Given the description of an element on the screen output the (x, y) to click on. 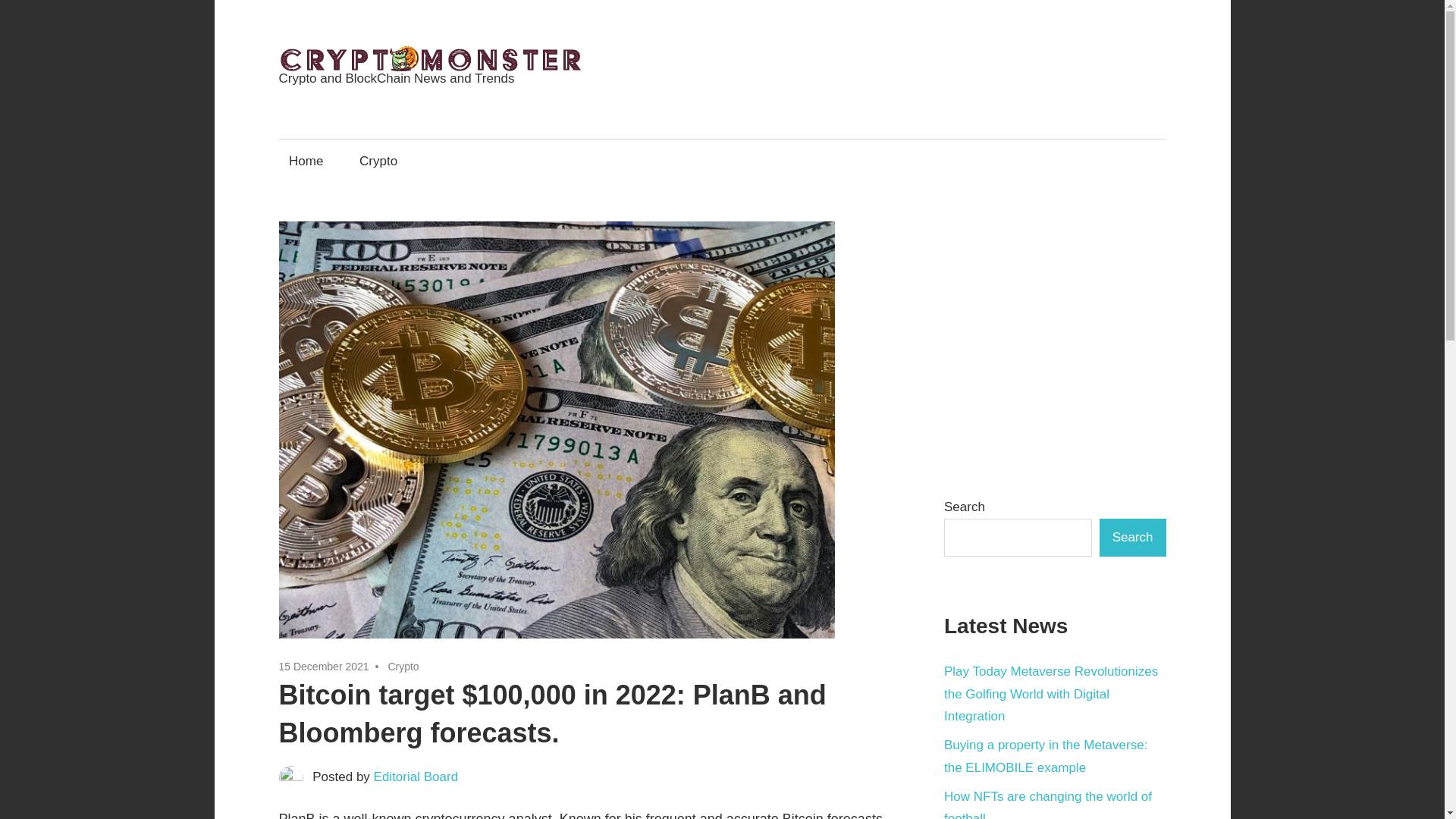
15 December 2021 (324, 666)
How NFTs are changing the world of football (1047, 803)
Home (306, 160)
View all posts by Editorial Board (416, 776)
12:45 (324, 666)
Buying a property in the Metaverse: the ELIMOBILE example (1045, 755)
Crypto (378, 160)
Search (1132, 537)
Crypto (403, 666)
Editorial Board (416, 776)
